Given the description of an element on the screen output the (x, y) to click on. 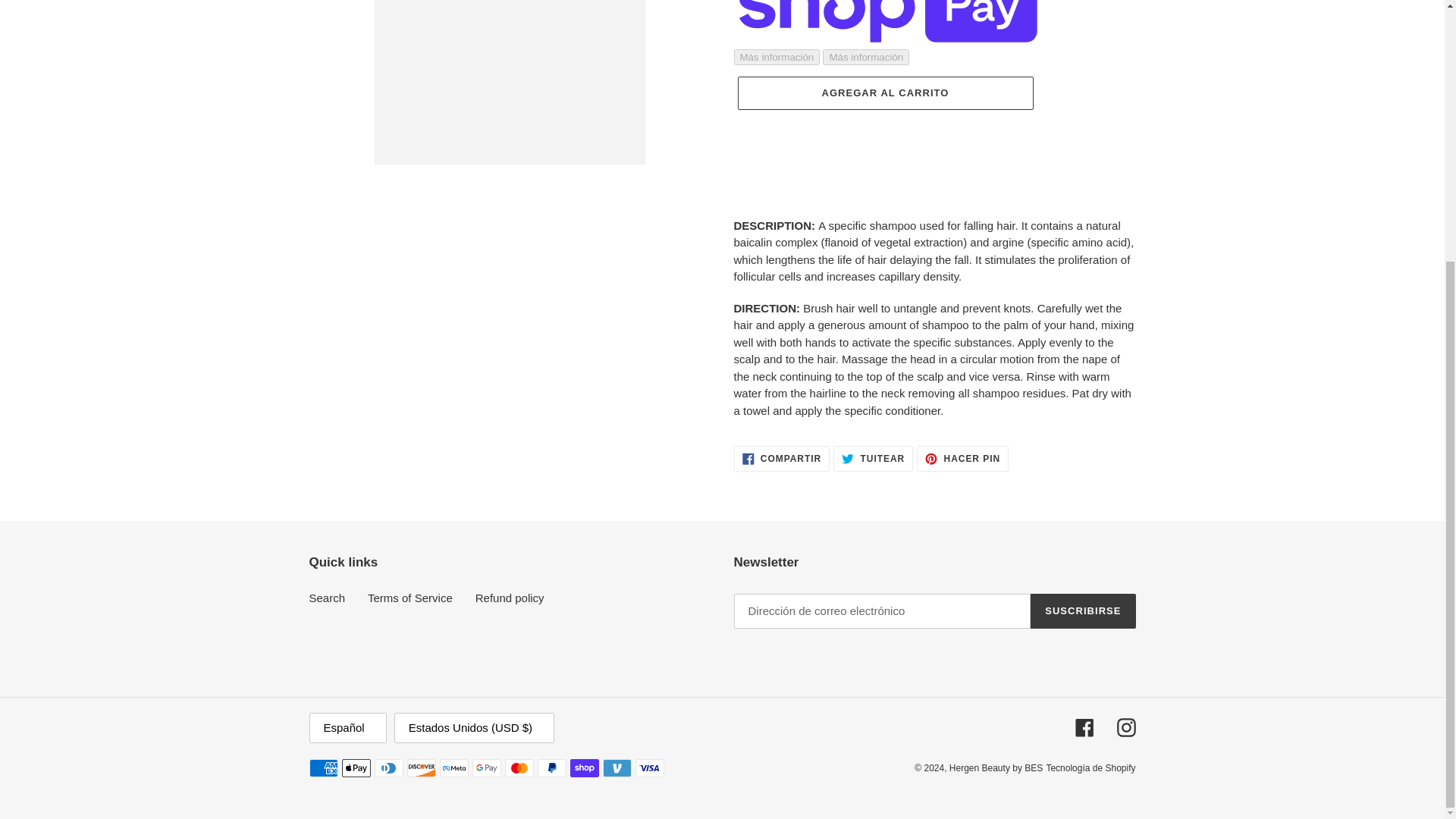
AGREGAR AL CARRITO (884, 92)
Terms of Service (963, 458)
Refund policy (410, 597)
SUSCRIBIRSE (781, 458)
Search (510, 597)
